Given the description of an element on the screen output the (x, y) to click on. 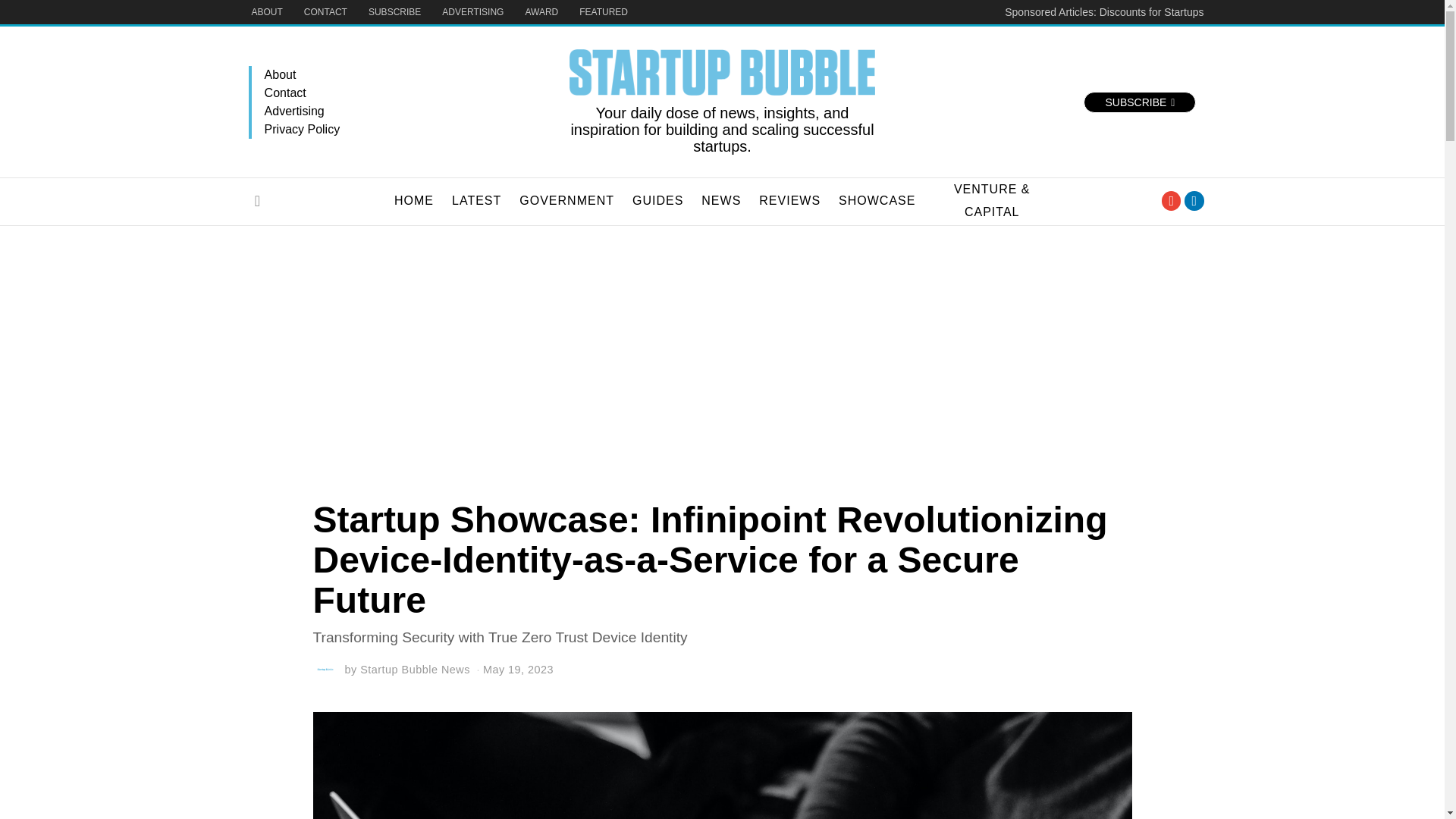
GUIDES (658, 200)
FEATURED (604, 12)
Go (258, 200)
ABOUT (267, 12)
Privacy Policy (407, 128)
HOME (413, 200)
REVIEWS (789, 200)
CONTACT (326, 12)
ADVERTISING (471, 12)
Startup Bubble News (414, 669)
